Given the description of an element on the screen output the (x, y) to click on. 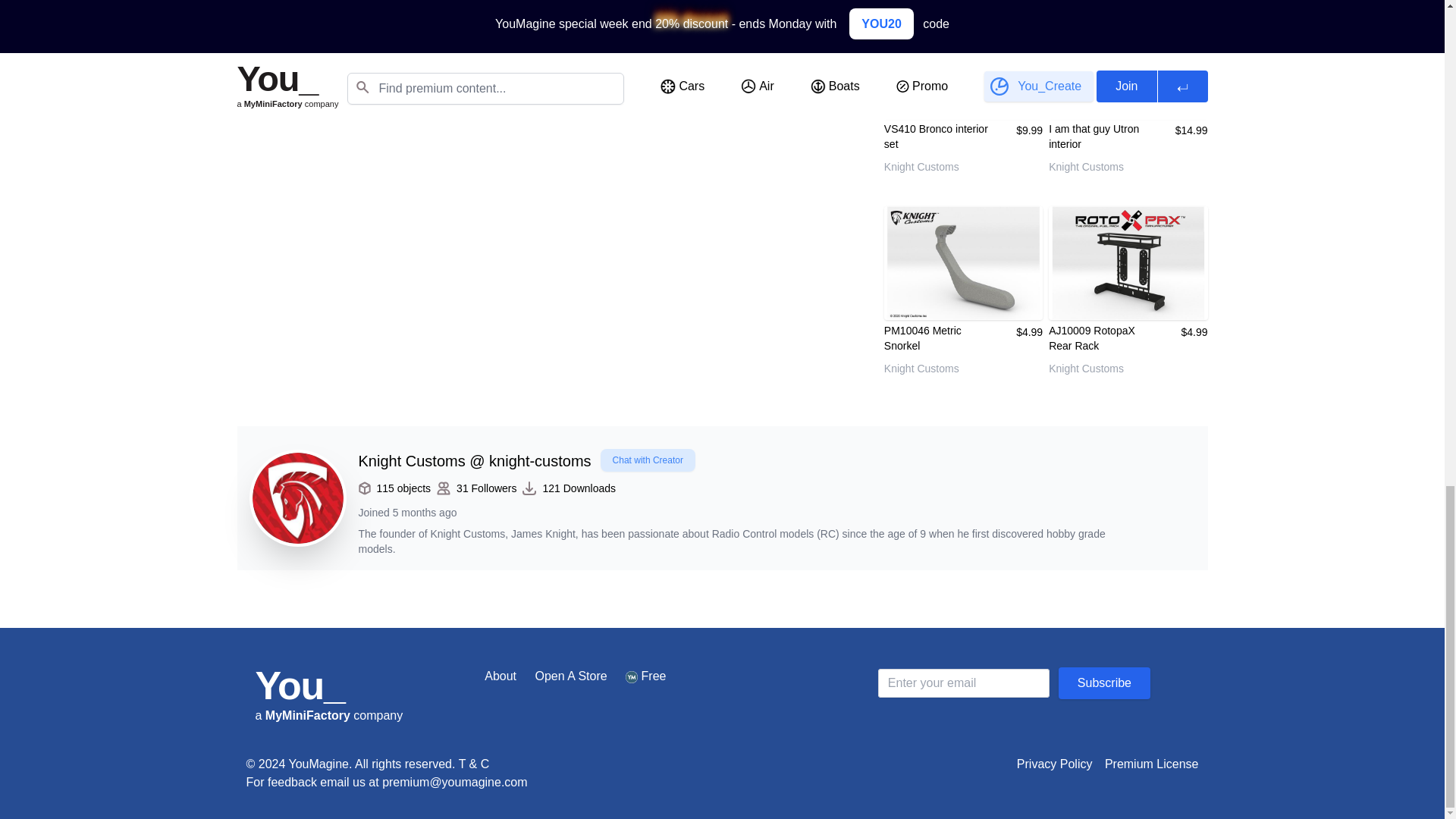
Subscribe (1104, 683)
